Given the description of an element on the screen output the (x, y) to click on. 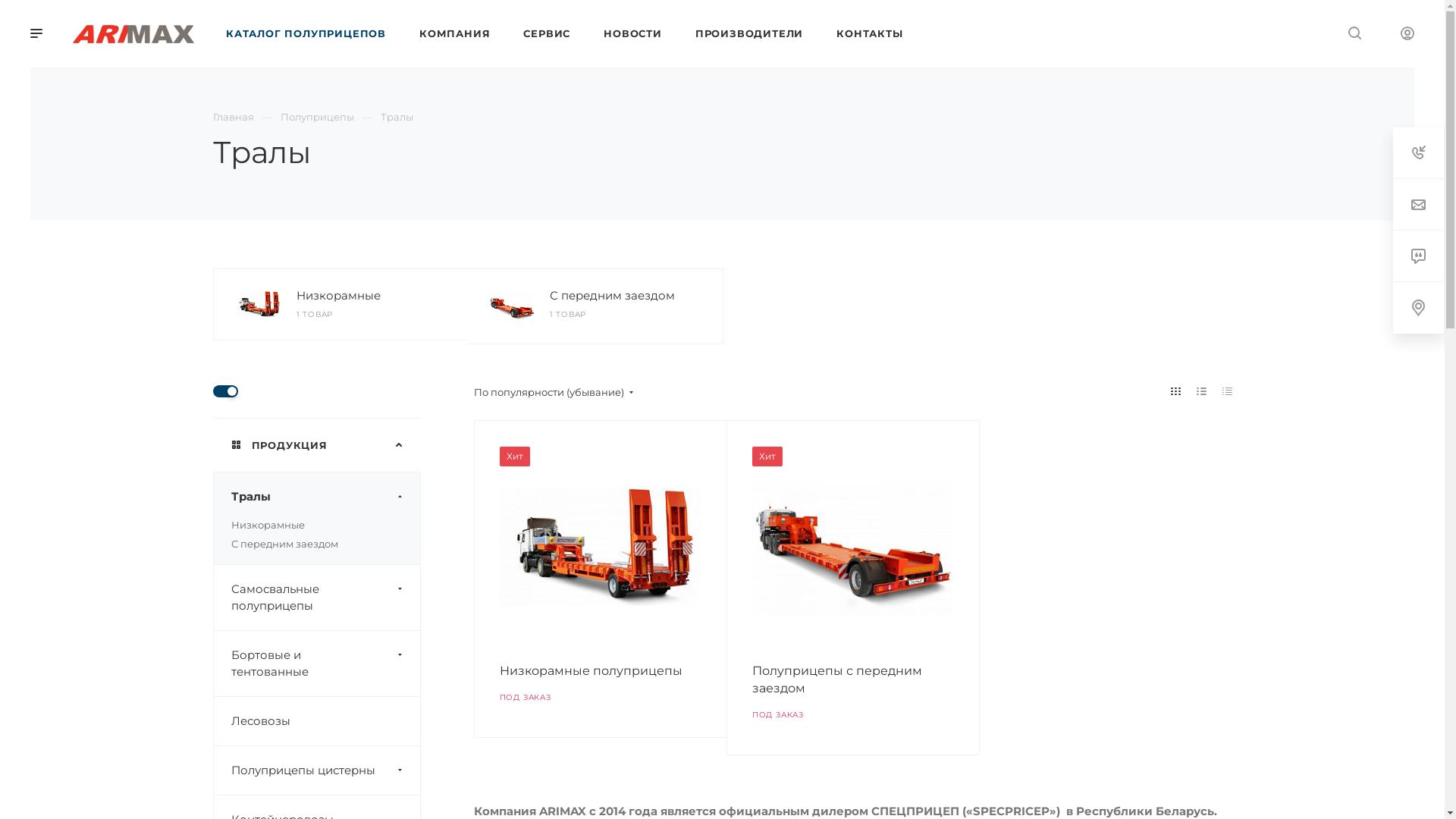
specpricep Element type: hover (852, 546)
specpricep Element type: hover (257, 304)
specpricep Element type: hover (598, 546)
specpricep Element type: hover (510, 306)
